Given the description of an element on the screen output the (x, y) to click on. 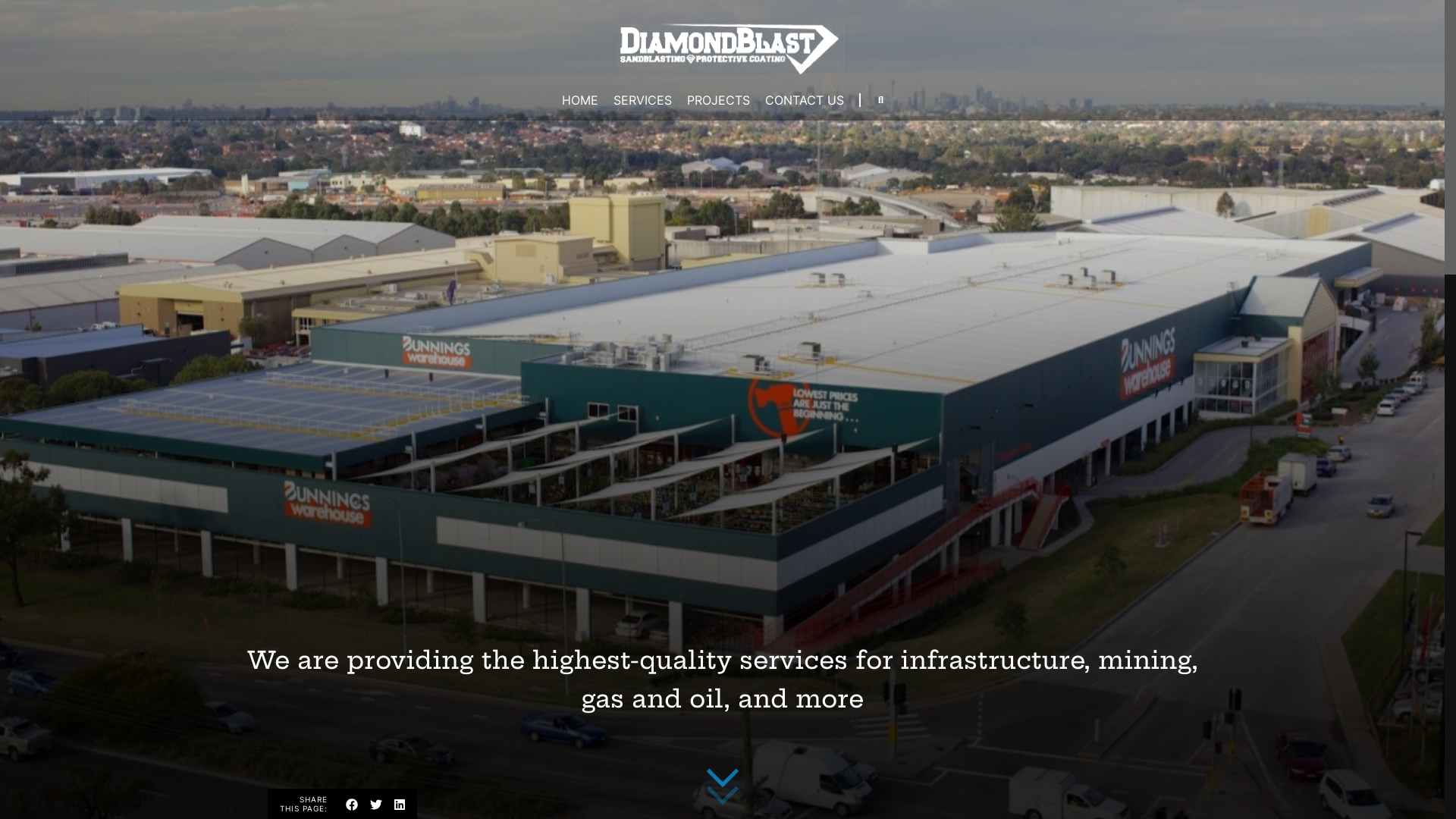
Share on Twitter Element type: hover (376, 805)
CONTACT US Element type: text (803, 99)
Share on Facebook Element type: hover (351, 805)
HOME Element type: text (579, 99)
SERVICES Element type: text (641, 99)
Share on LinkedIn Element type: hover (399, 805)
Search Element type: text (846, 141)
PROJECTS Element type: text (718, 99)
